Given the description of an element on the screen output the (x, y) to click on. 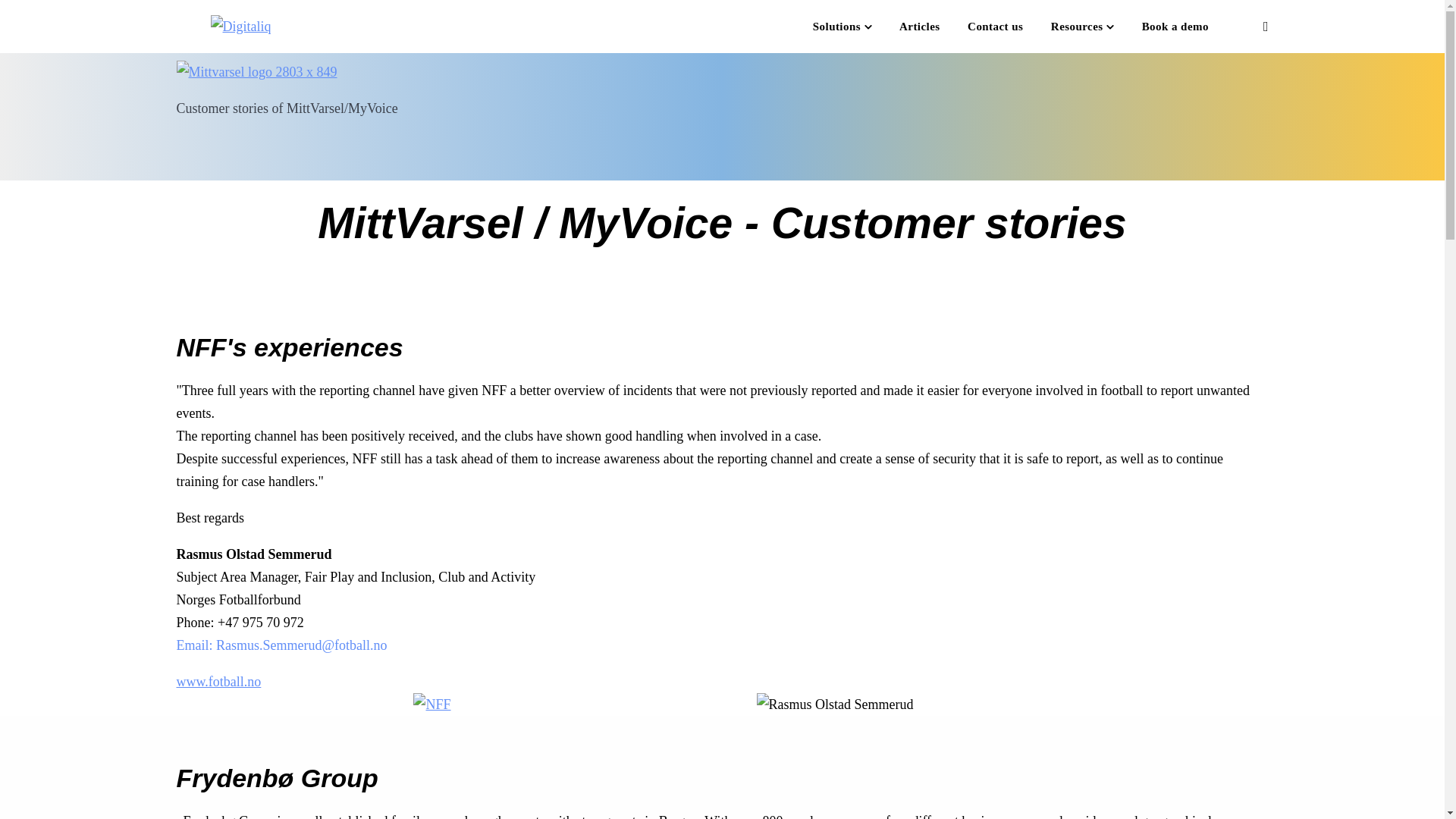
Rasmus Olstad Semmerud (835, 703)
Contact us (995, 26)
Book a demo (1174, 26)
NFF (431, 703)
Digitaliq (240, 26)
www.fotball.no (218, 681)
